Given the description of an element on the screen output the (x, y) to click on. 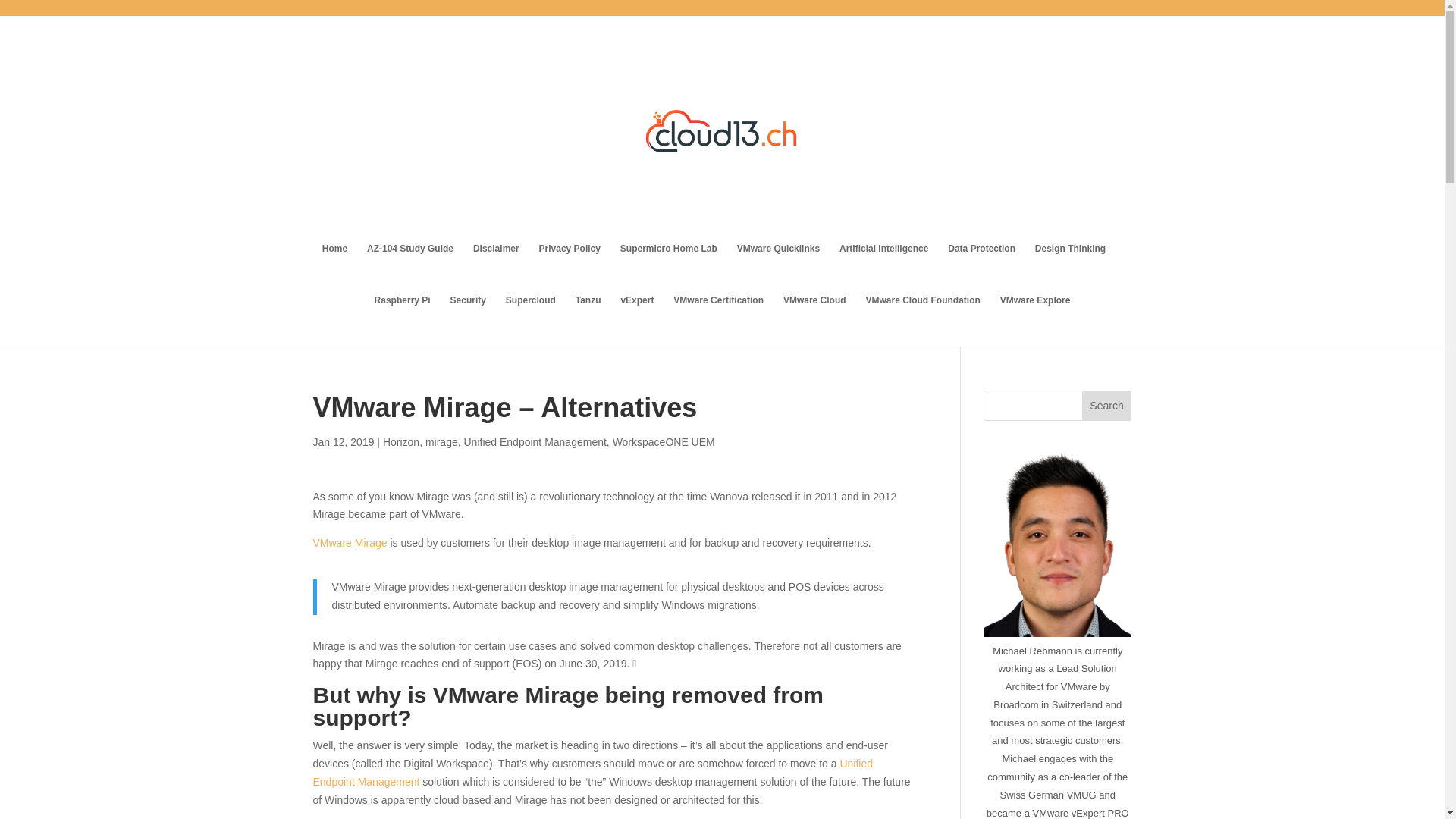
Horizon (400, 441)
VMware Cloud (814, 320)
Design Thinking (1070, 268)
VMware Certification (717, 320)
Data Protection (980, 268)
Supermicro Home Lab (668, 268)
Search (1106, 405)
VMware Quicklinks (777, 268)
Raspberry Pi (402, 320)
Disclaimer (496, 268)
VMware Cloud Foundation (921, 320)
mirage (441, 441)
VMware Explore (1035, 320)
AZ-104 Study Guide (409, 268)
Privacy Policy (568, 268)
